Given the description of an element on the screen output the (x, y) to click on. 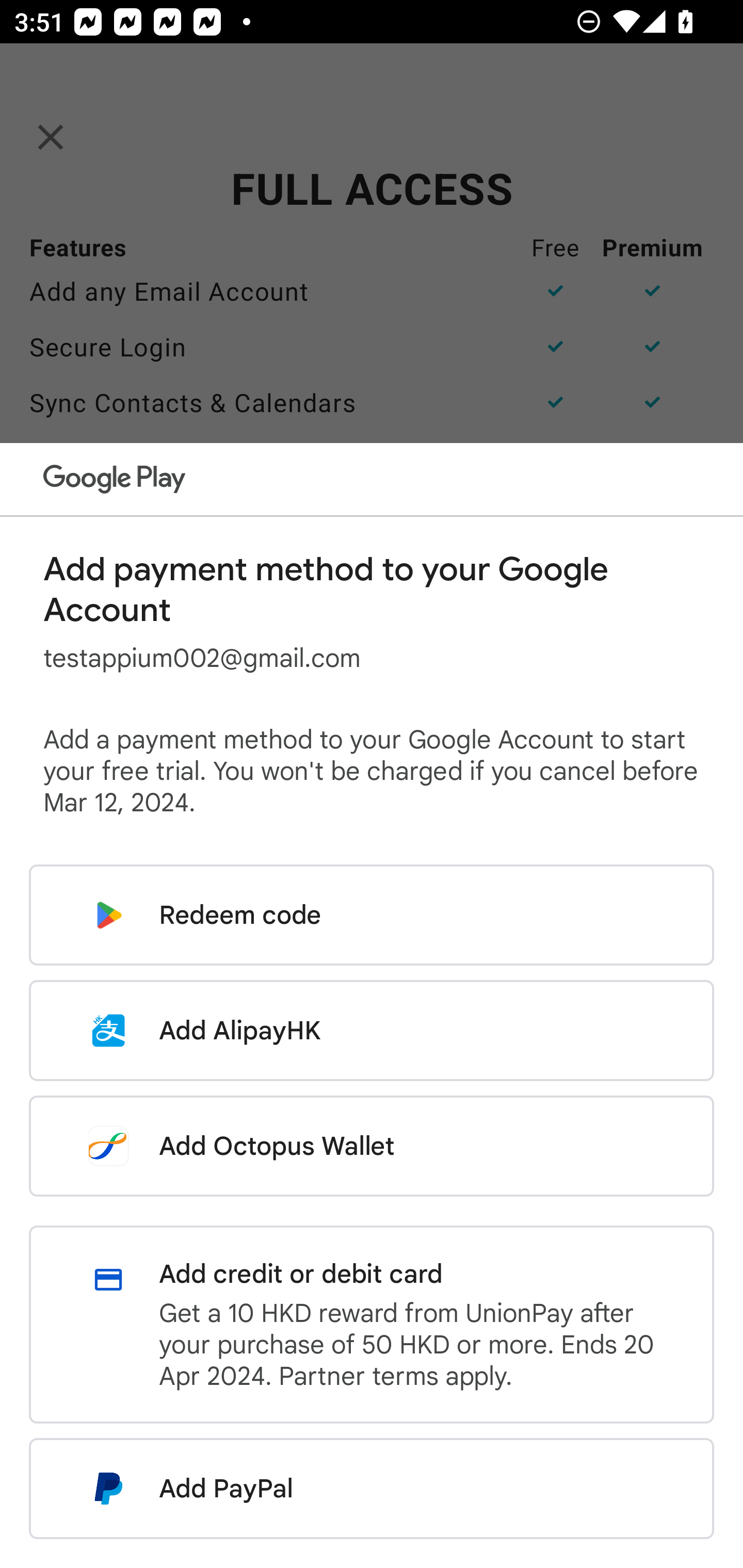
Redeem code (371, 914)
Add AlipayHK (371, 1030)
Add Octopus Wallet (371, 1146)
Add PayPal (371, 1488)
